Given the description of an element on the screen output the (x, y) to click on. 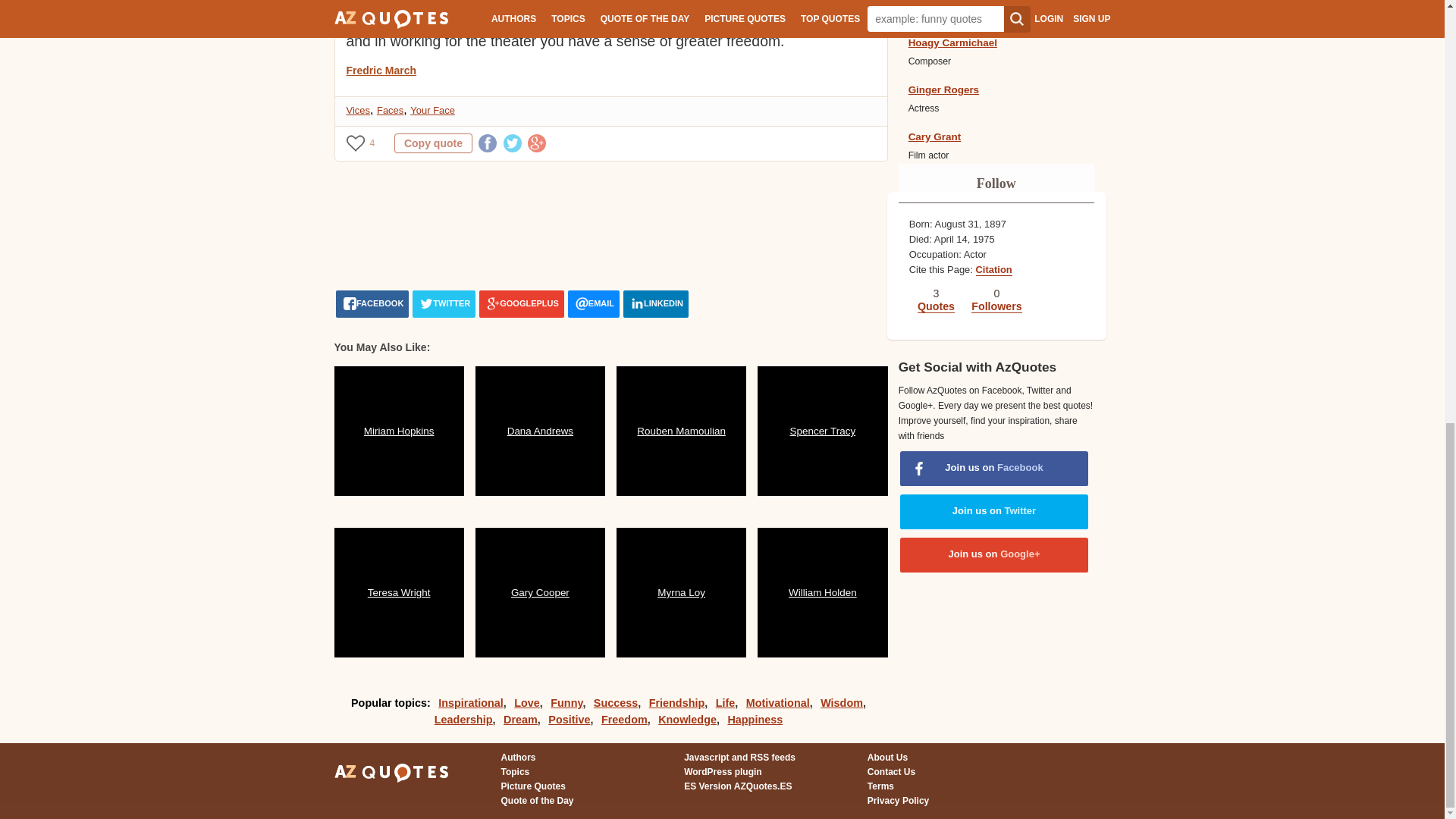
Quote is copied (432, 143)
